Given the description of an element on the screen output the (x, y) to click on. 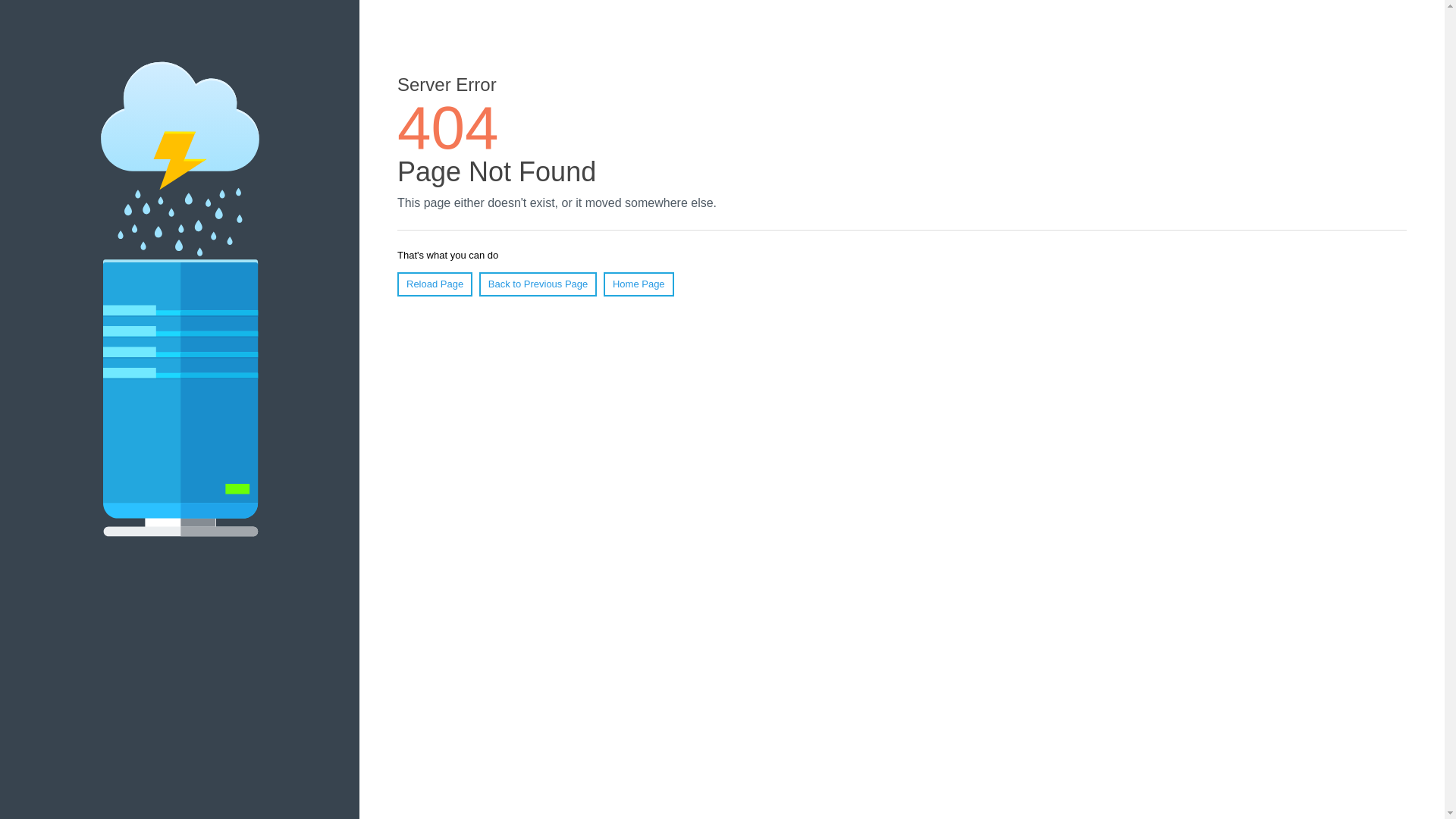
Home Page Element type: text (638, 284)
Reload Page Element type: text (434, 284)
Back to Previous Page Element type: text (538, 284)
